Given the description of an element on the screen output the (x, y) to click on. 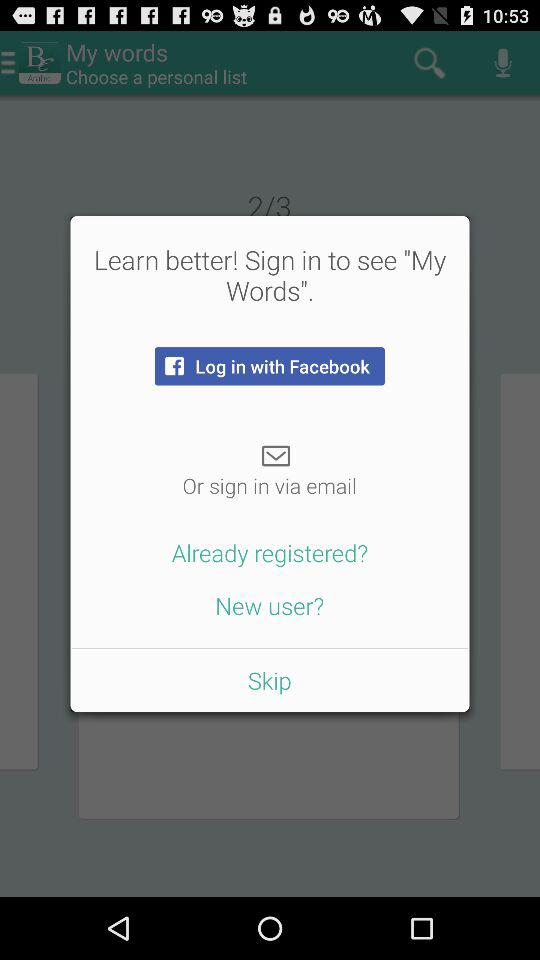
jump to new user? (269, 605)
